Given the description of an element on the screen output the (x, y) to click on. 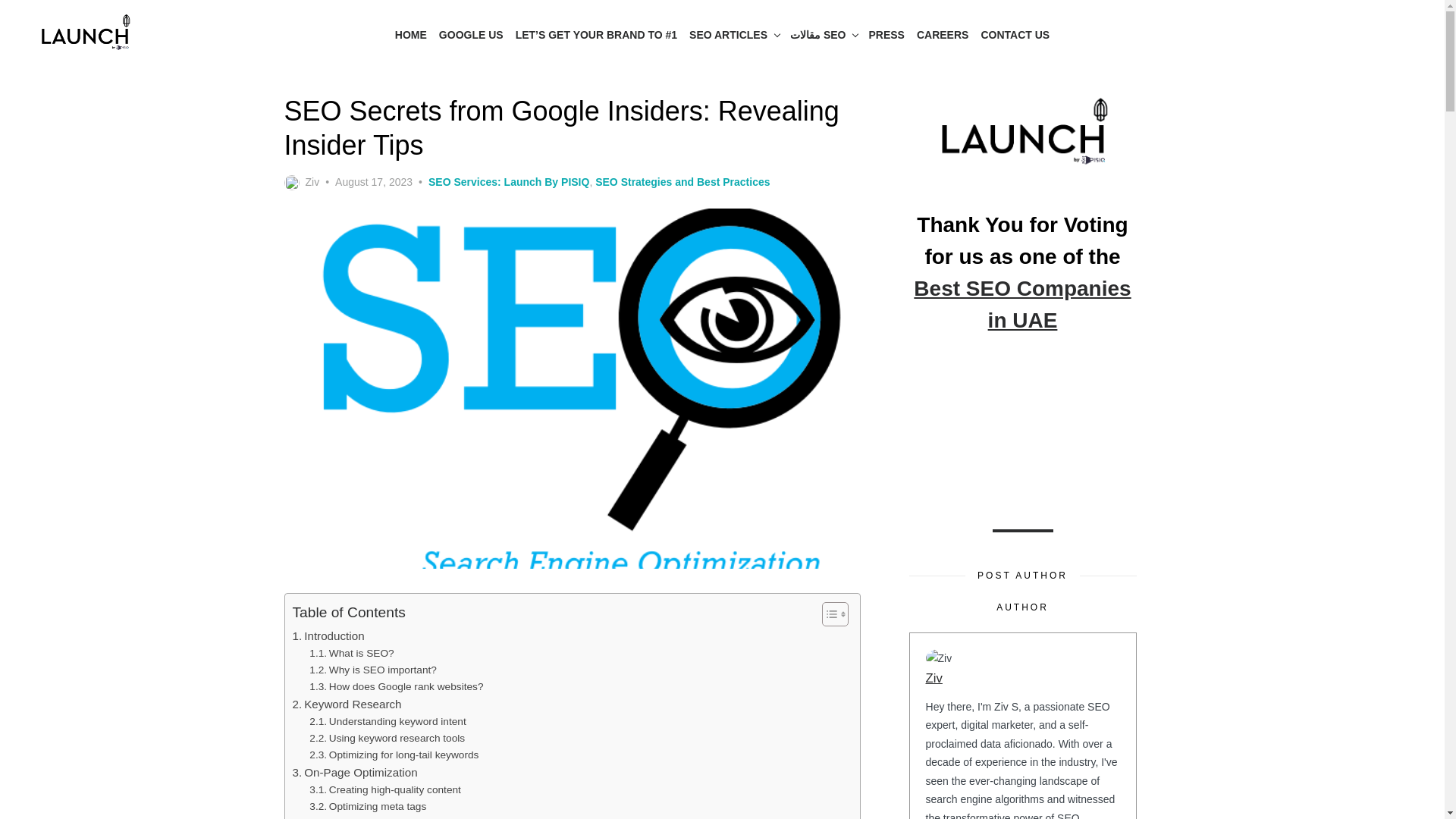
Using keyword research tools (386, 738)
Optimizing for long-tail keywords (393, 754)
Creating high-quality content (384, 790)
Optimizing meta tags (367, 806)
Improving website speed (376, 816)
GOOGLE US (470, 34)
On-Page Optimization (354, 772)
HOME (410, 34)
Understanding keyword intent (386, 721)
How does Google rank websites? (395, 686)
What is SEO? (350, 653)
Introduction (328, 636)
Why is SEO important? (372, 669)
SEO ARTICLES (732, 34)
Keyword Research (346, 704)
